Given the description of an element on the screen output the (x, y) to click on. 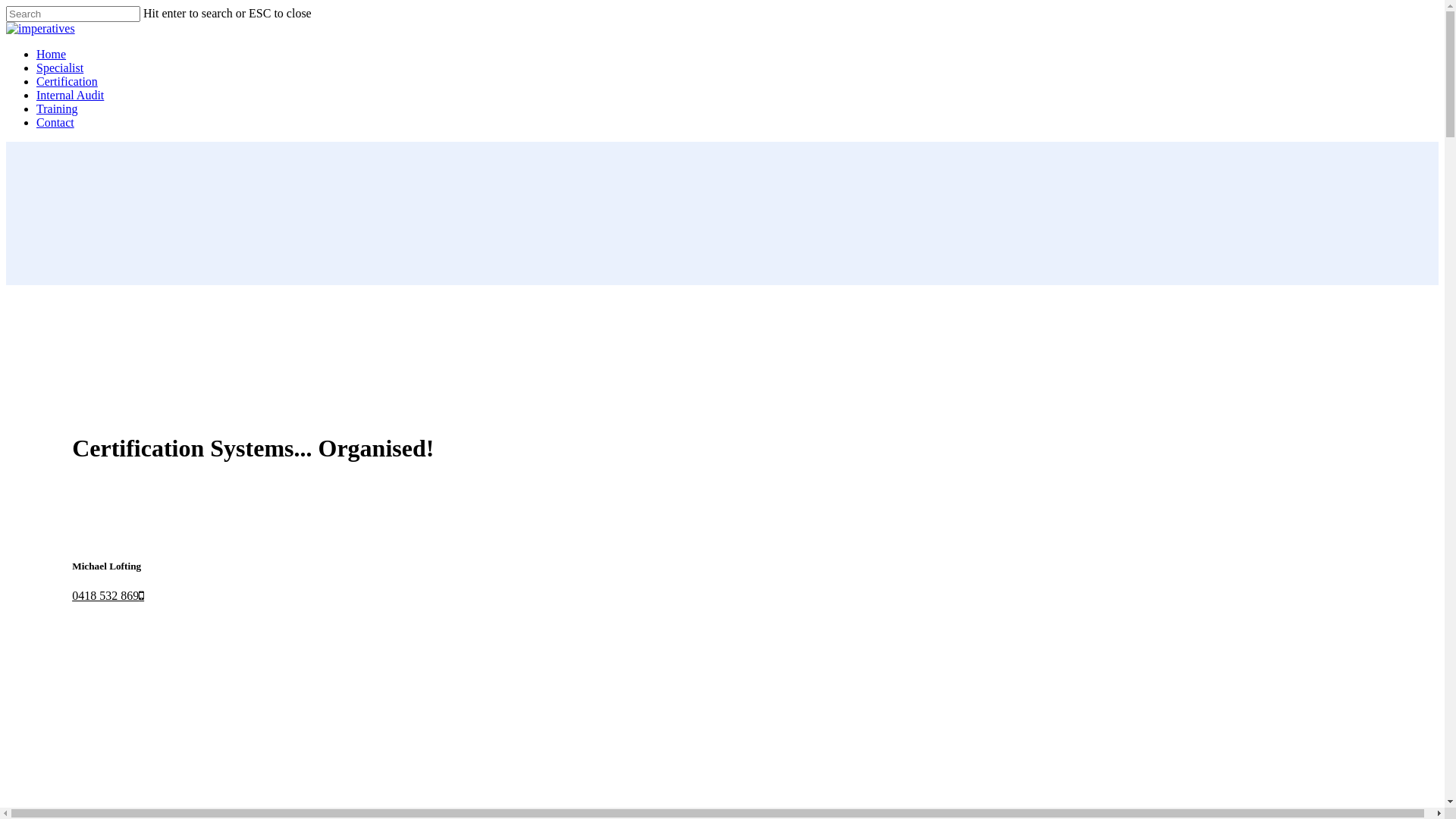
Internal Audit Element type: text (69, 94)
Training Element type: text (57, 108)
0418 532 869 Element type: text (108, 595)
Contact Element type: text (55, 122)
Specialist Element type: text (59, 67)
Certification Element type: text (66, 81)
Home Element type: text (50, 53)
